Given the description of an element on the screen output the (x, y) to click on. 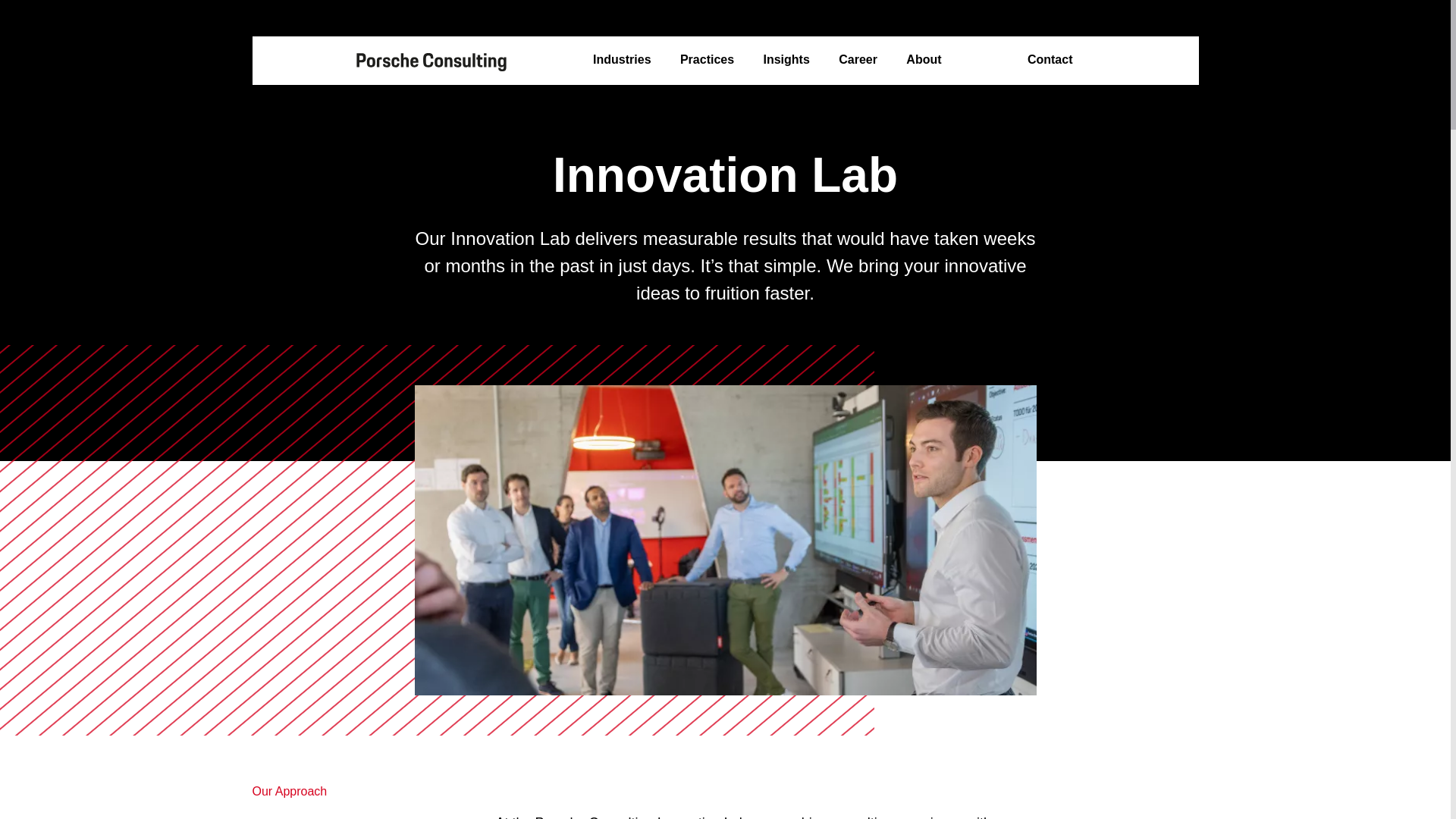
Practices (706, 60)
Industries (621, 60)
Career (857, 60)
Insights (785, 60)
About (922, 60)
Contact (1050, 60)
